Given the description of an element on the screen output the (x, y) to click on. 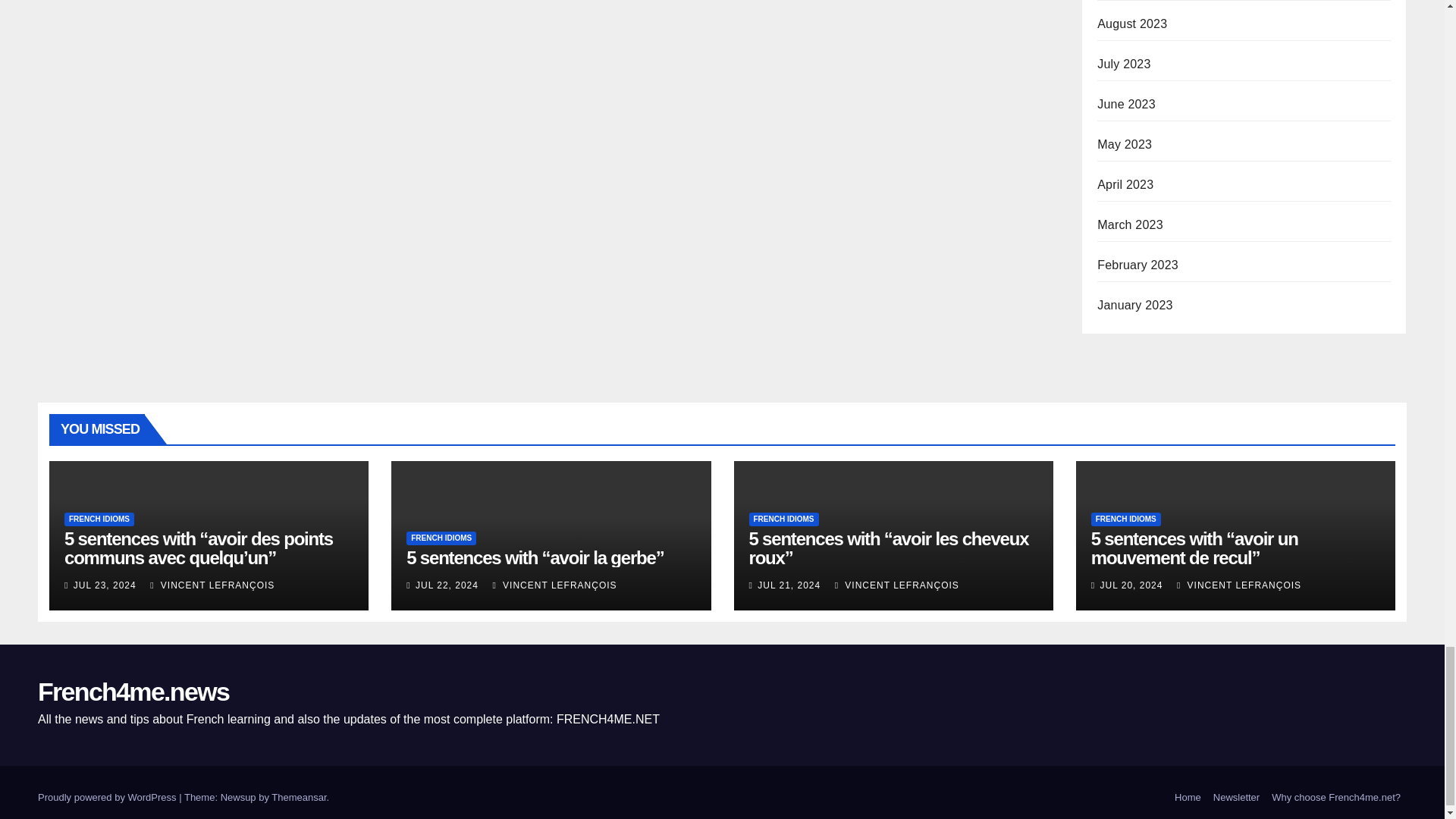
Home (1188, 797)
